Given the description of an element on the screen output the (x, y) to click on. 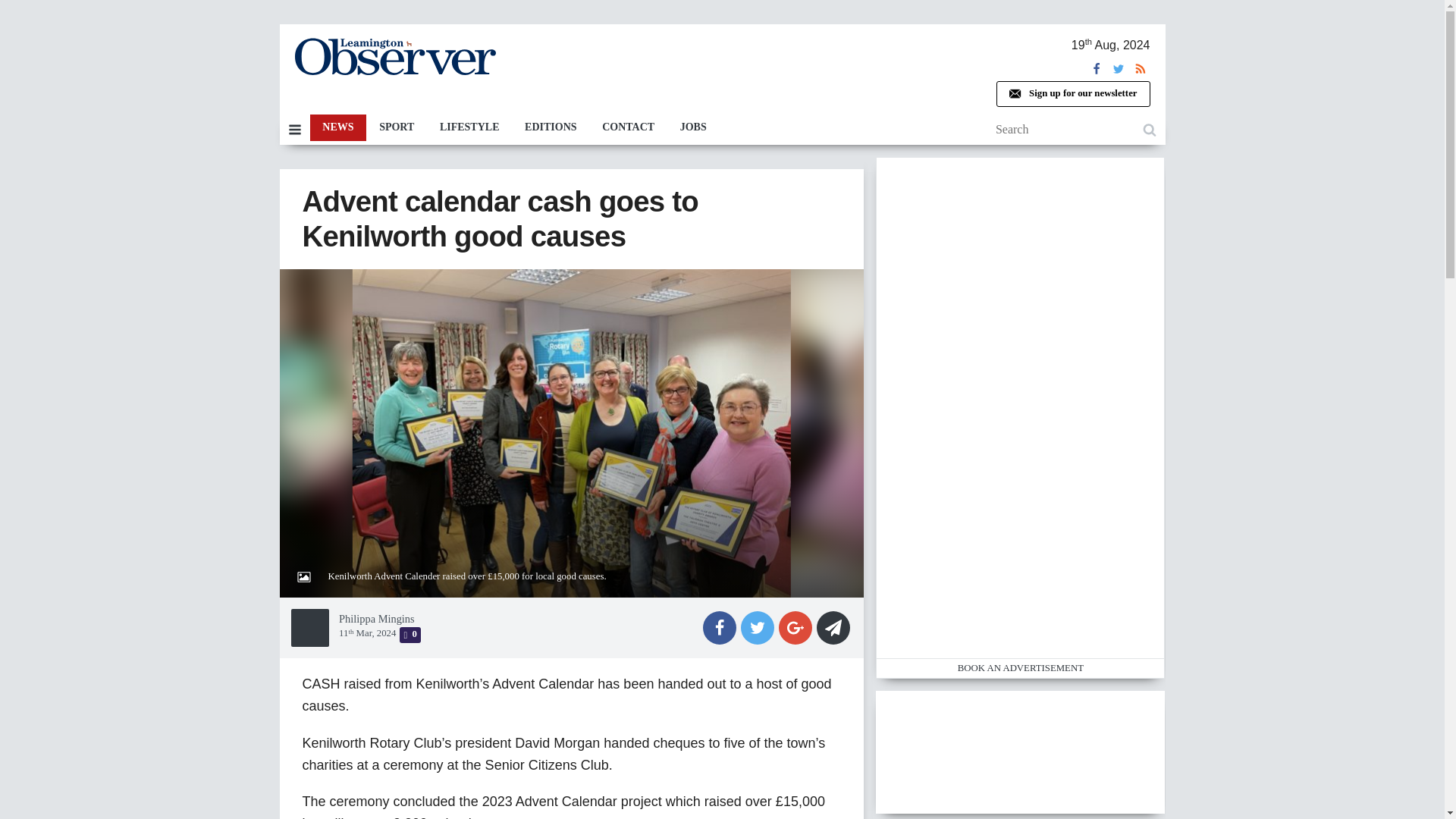
CONTACT (627, 127)
LIFESTYLE (469, 127)
SPORT (396, 127)
NEWS (337, 127)
  Sign up for our newsletter (1072, 94)
JOBS (692, 127)
EDITIONS (550, 127)
The Leamington Observer (394, 55)
Philippa Mingins (376, 618)
